Given the description of an element on the screen output the (x, y) to click on. 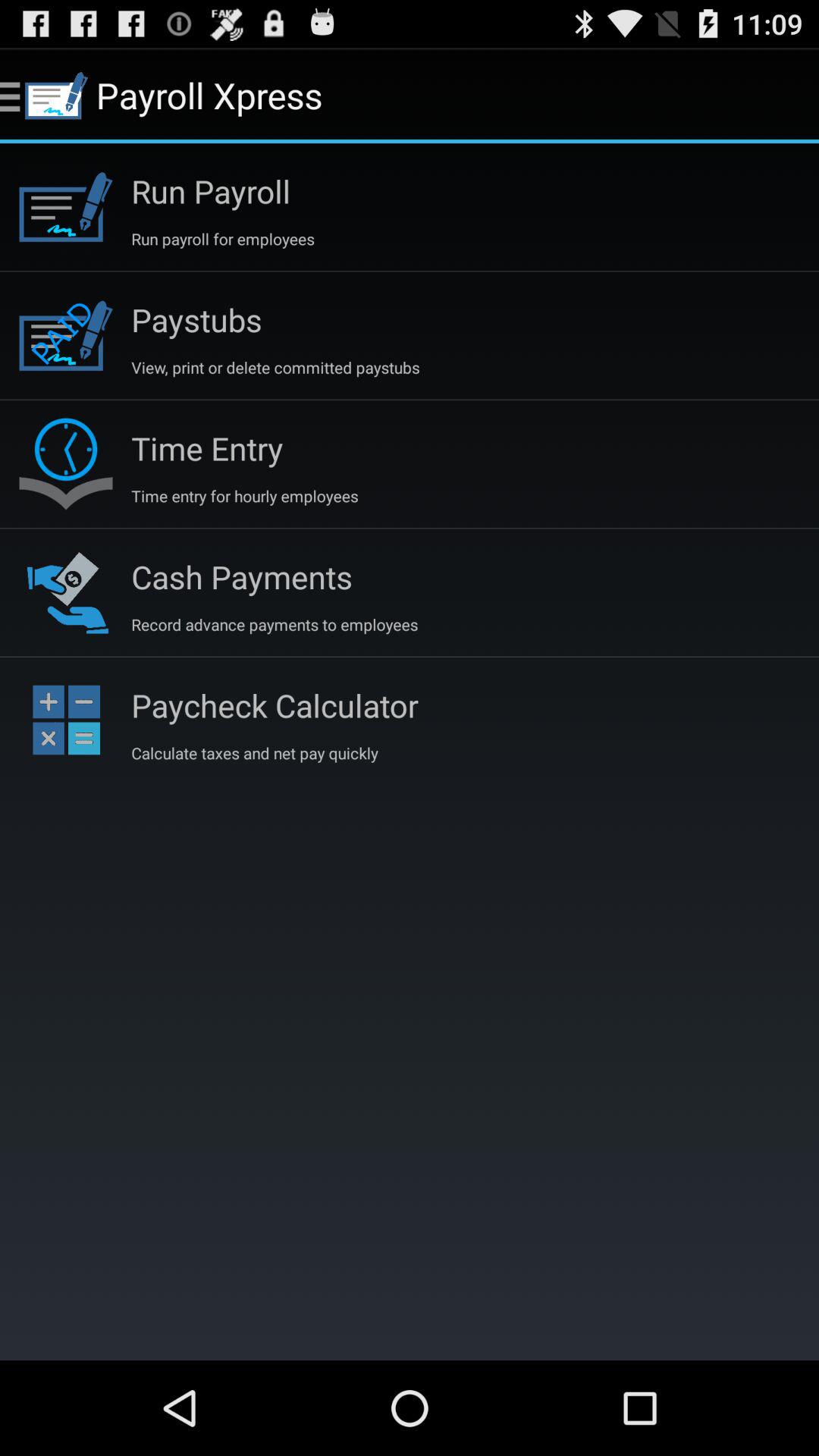
flip to the view print or icon (275, 367)
